Given the description of an element on the screen output the (x, y) to click on. 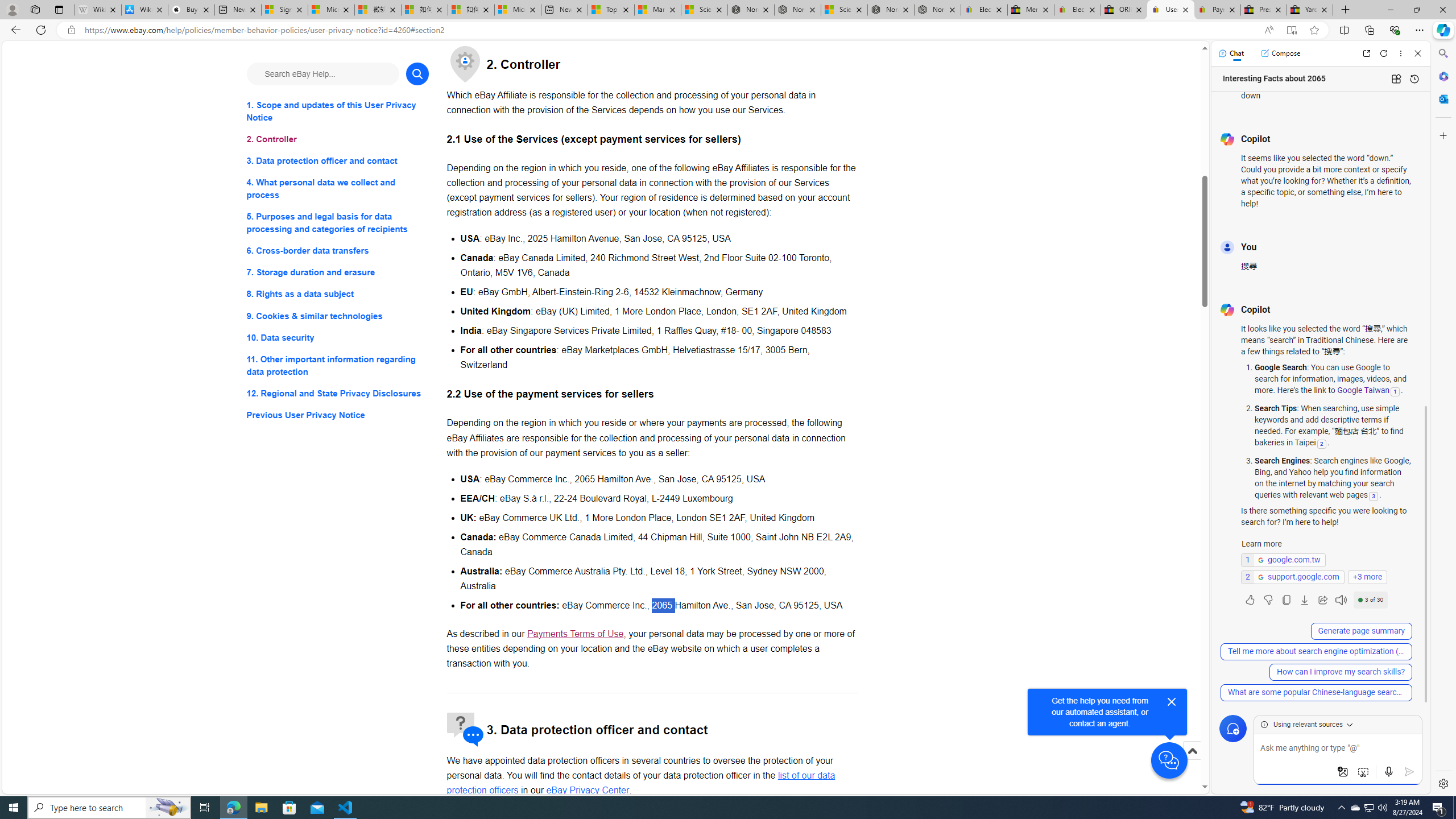
Enter Immersive Reader (F9) (1291, 29)
Buy iPad - Apple (191, 9)
Settings and more (Alt+F) (1419, 29)
Top Stories - MSN (610, 9)
Outlook (1442, 98)
Side bar (1443, 418)
Browser essentials (1394, 29)
10. Data security (337, 336)
Payments Terms of Use - opens in new window or tab (575, 633)
6. Cross-border data transfers (337, 250)
1. Scope and updates of this User Privacy Notice (337, 111)
More options (1401, 53)
Marine life - MSN (656, 9)
Search (1442, 53)
